Given the description of an element on the screen output the (x, y) to click on. 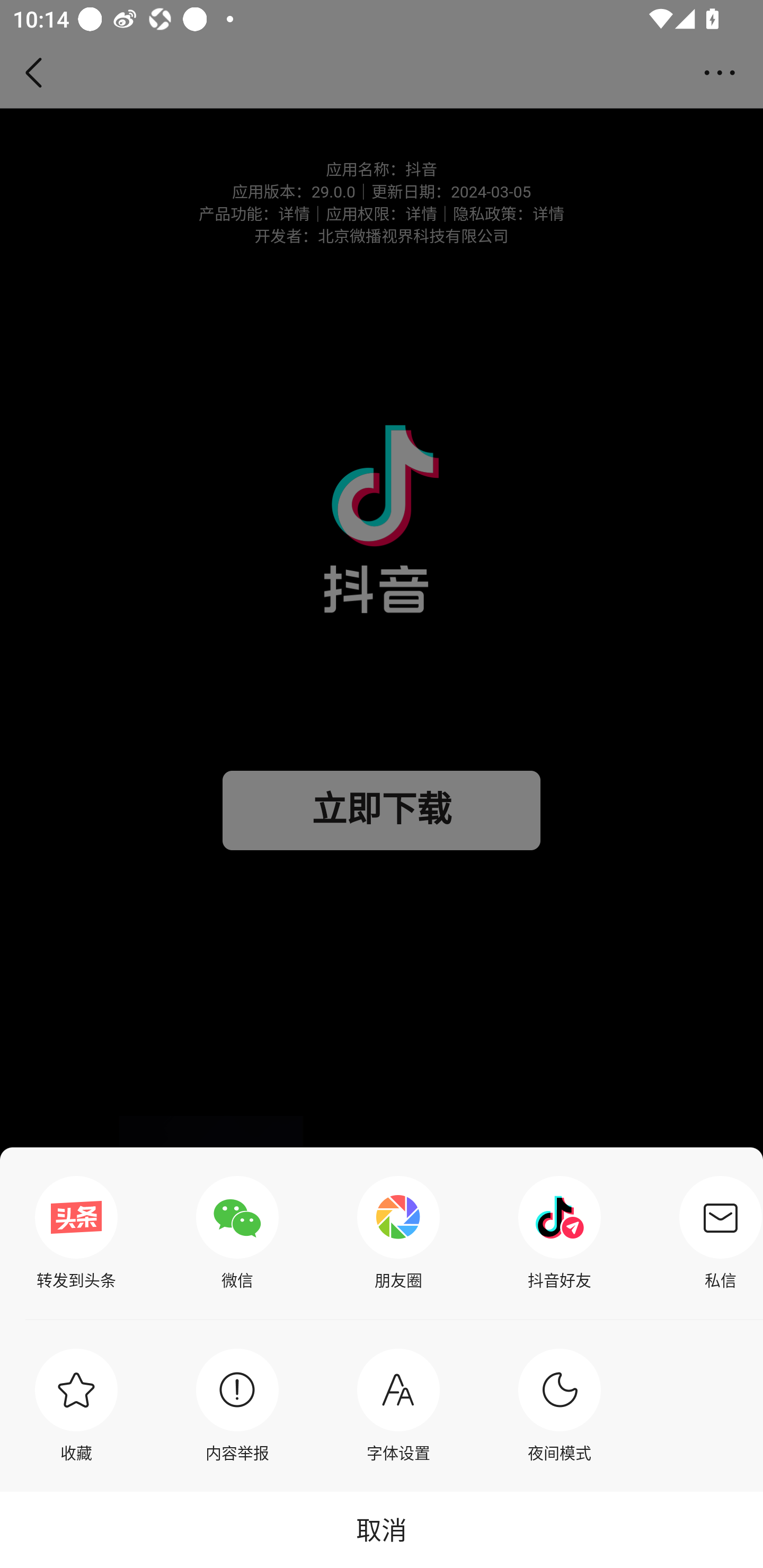
转发到头条 (76, 1232)
微信 (237, 1232)
朋友圈 (398, 1232)
抖音好友 (559, 1232)
私信 (716, 1232)
收藏 (76, 1405)
内容举报 (237, 1405)
字体设置 (398, 1405)
夜间模式 (559, 1405)
取消 (381, 1529)
